Given the description of an element on the screen output the (x, y) to click on. 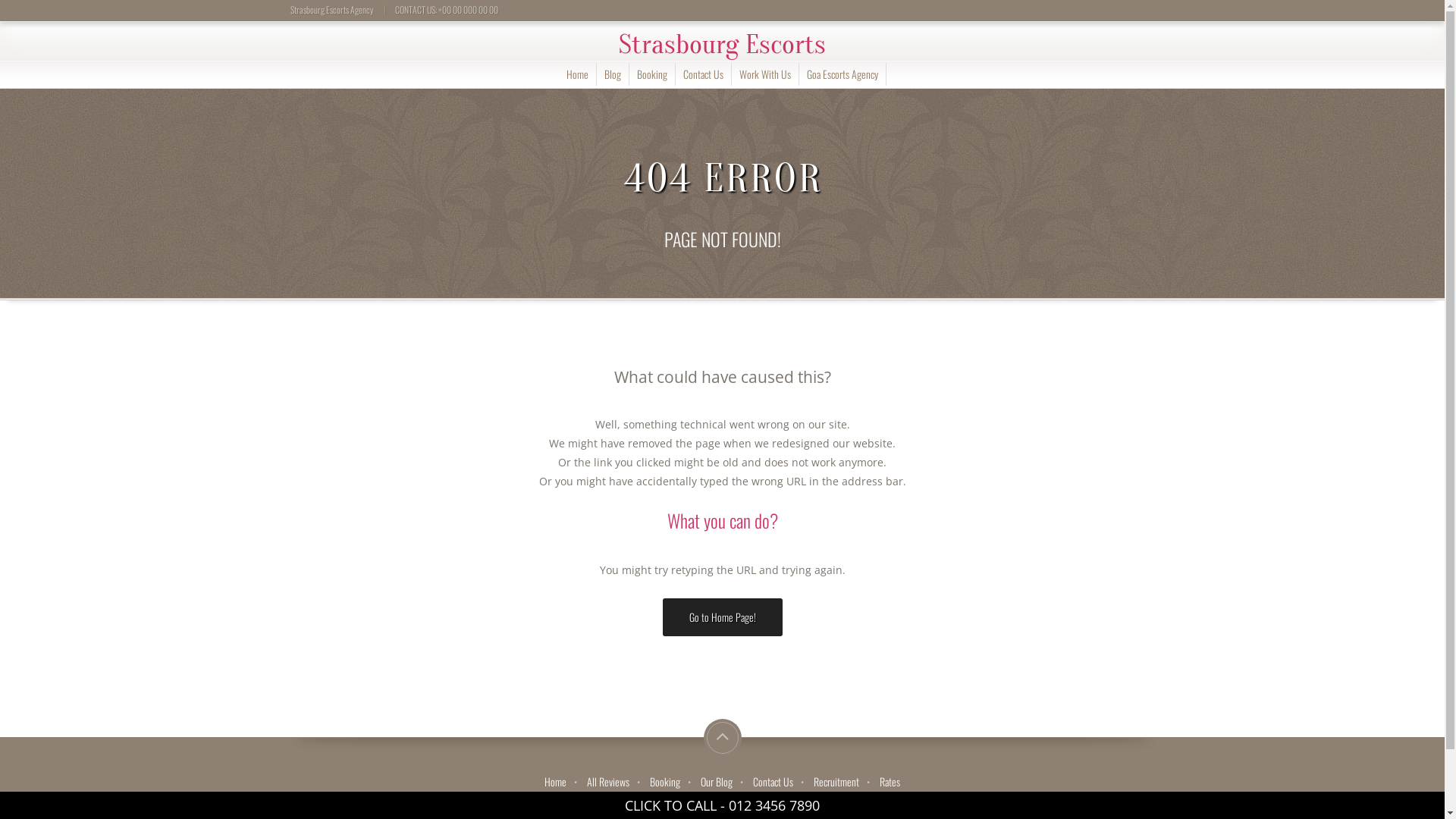
012 3456 7890 Element type: text (773, 805)
All Reviews Element type: text (608, 781)
Goa Escorts Agency Element type: text (842, 73)
Booking Element type: text (651, 73)
Home Element type: text (576, 73)
Contact Us Element type: text (773, 781)
Strasbourg Escorts Element type: text (721, 44)
Recruitment Element type: text (835, 781)
Our Blog Element type: text (716, 781)
Home Element type: text (555, 781)
Go to Home Page! Element type: text (722, 617)
Work With Us Element type: text (764, 73)
Blog Element type: text (611, 73)
Rates Element type: text (889, 781)
Booking Element type: text (665, 781)
Contact Us Element type: text (702, 73)
